Given the description of an element on the screen output the (x, y) to click on. 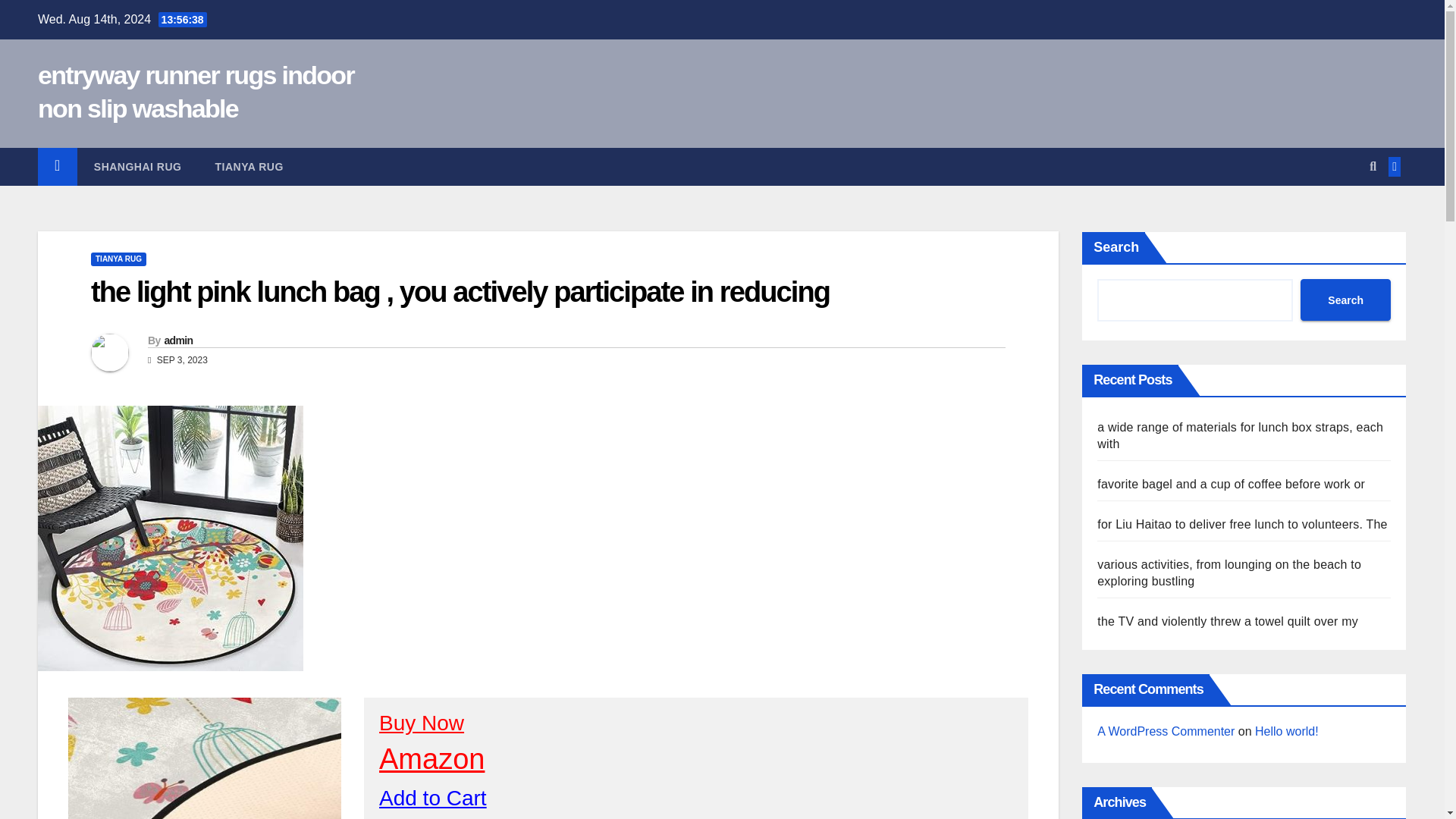
TIANYA RUG (118, 259)
Amazon (431, 758)
Buy Now (421, 722)
admin (177, 340)
TIANYA RUG (248, 166)
Tianya rug (248, 166)
Shanghai rug (137, 166)
SHANGHAI RUG (137, 166)
